Given the description of an element on the screen output the (x, y) to click on. 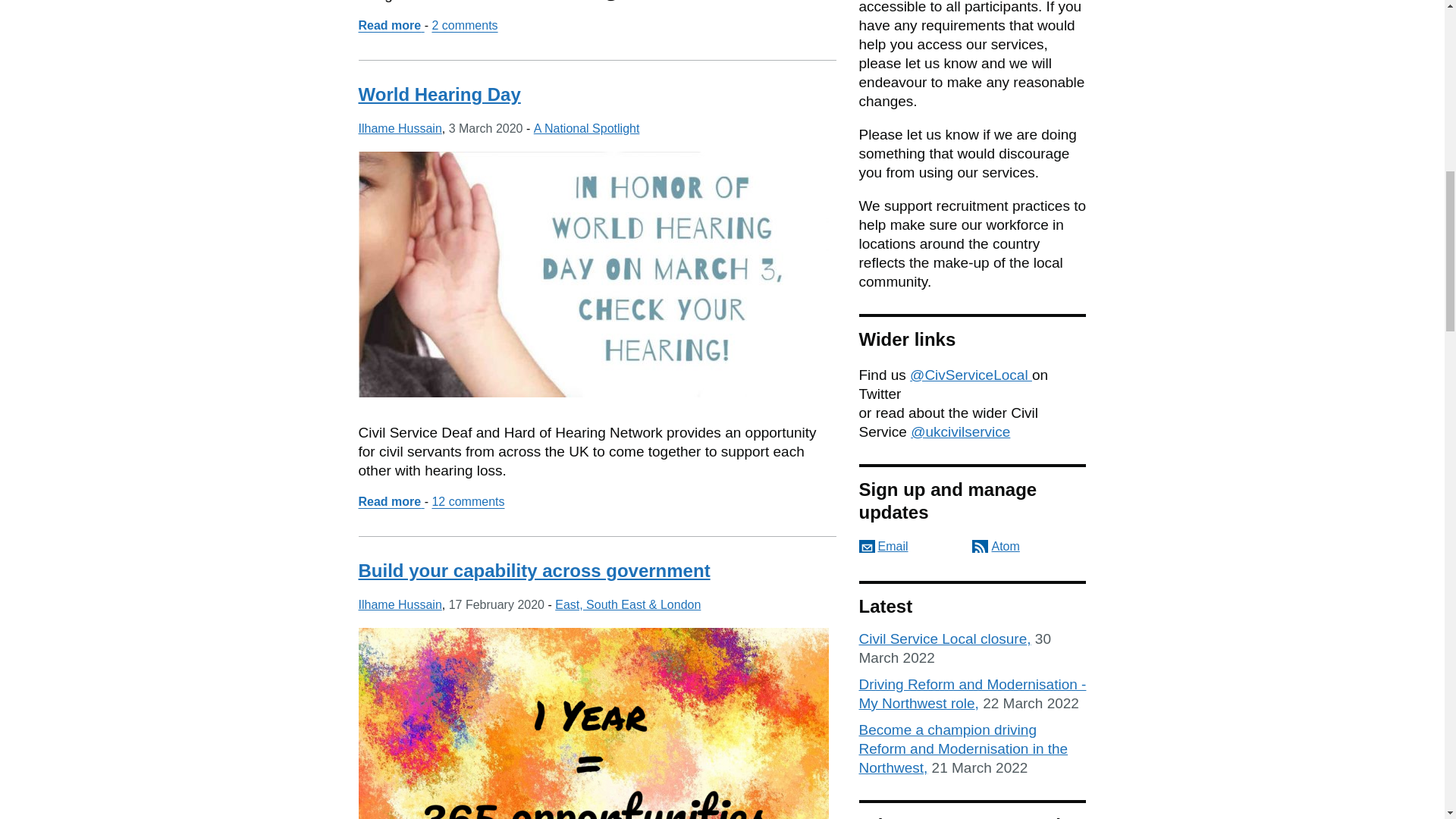
Ilhame Hussain (390, 24)
World Hearing Day (390, 501)
Posts by Ilhame Hussain (399, 128)
Posts by Ilhame Hussain (438, 94)
12 comments (399, 128)
A National Spotlight (399, 604)
2 comments (466, 501)
Ilhame Hussain (587, 128)
